Given the description of an element on the screen output the (x, y) to click on. 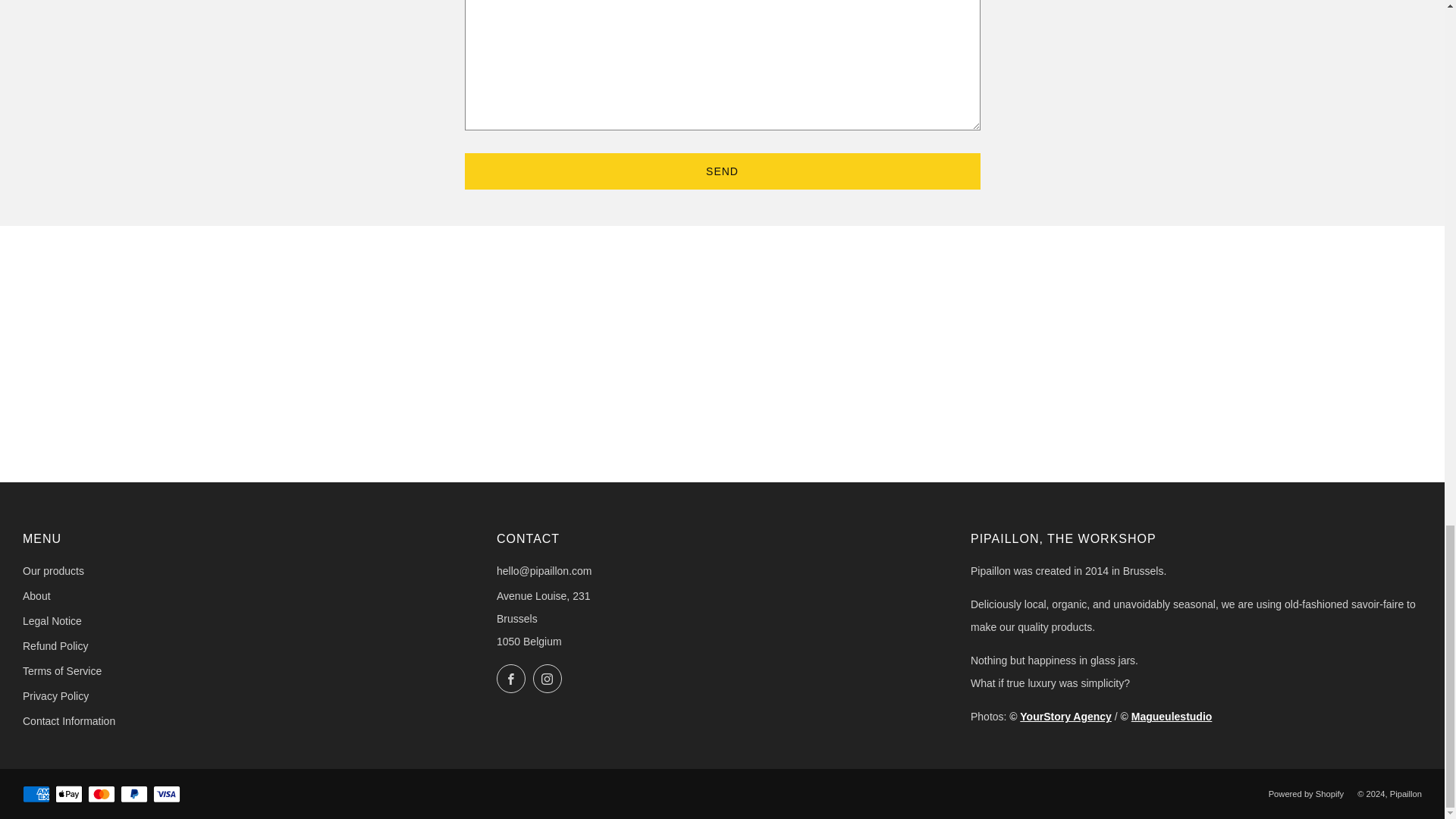
Send (721, 171)
